Given the description of an element on the screen output the (x, y) to click on. 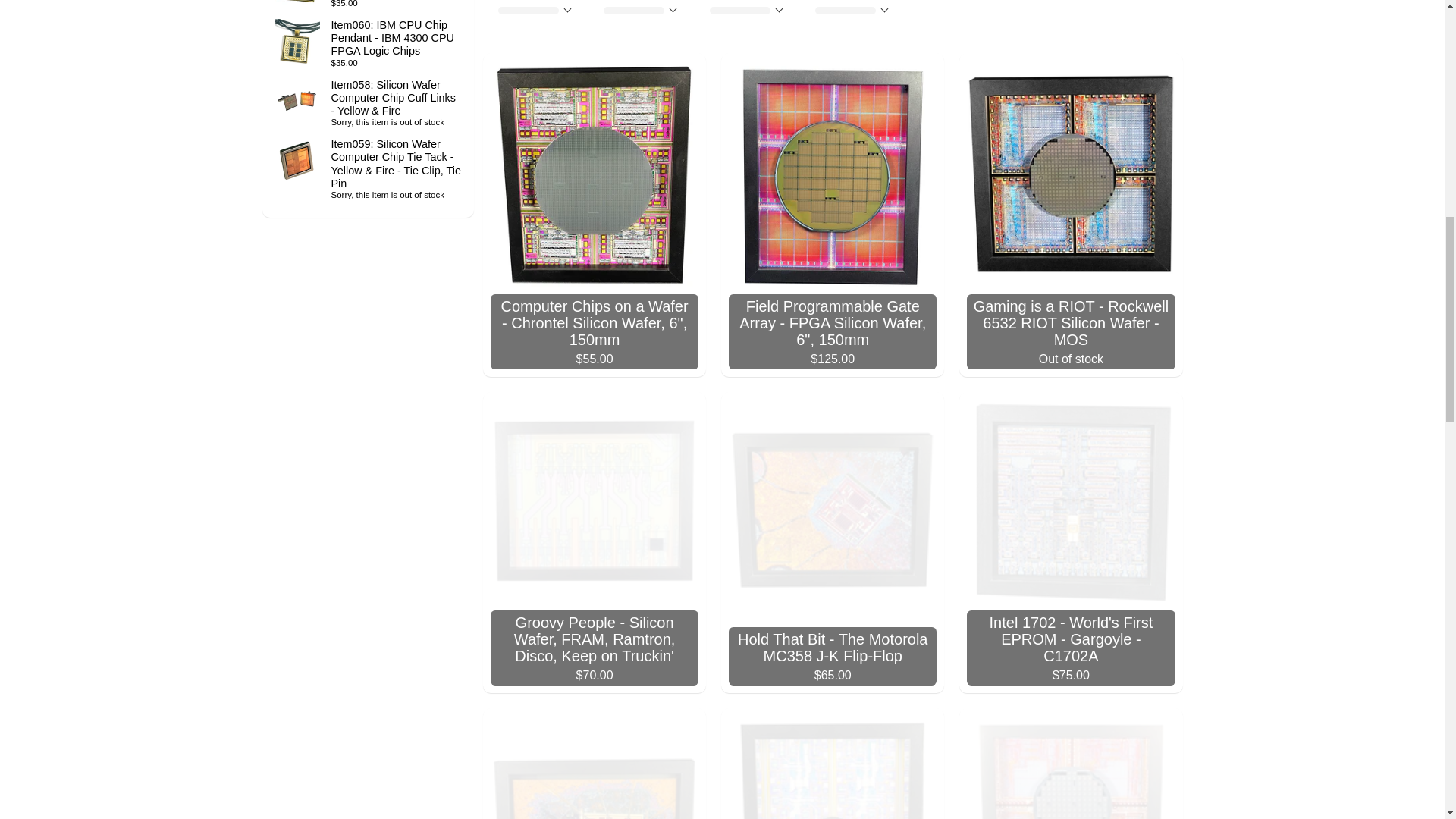
Just a Two-Bit Adder - The Motorola MC353G Half Adder (594, 763)
